Given the description of an element on the screen output the (x, y) to click on. 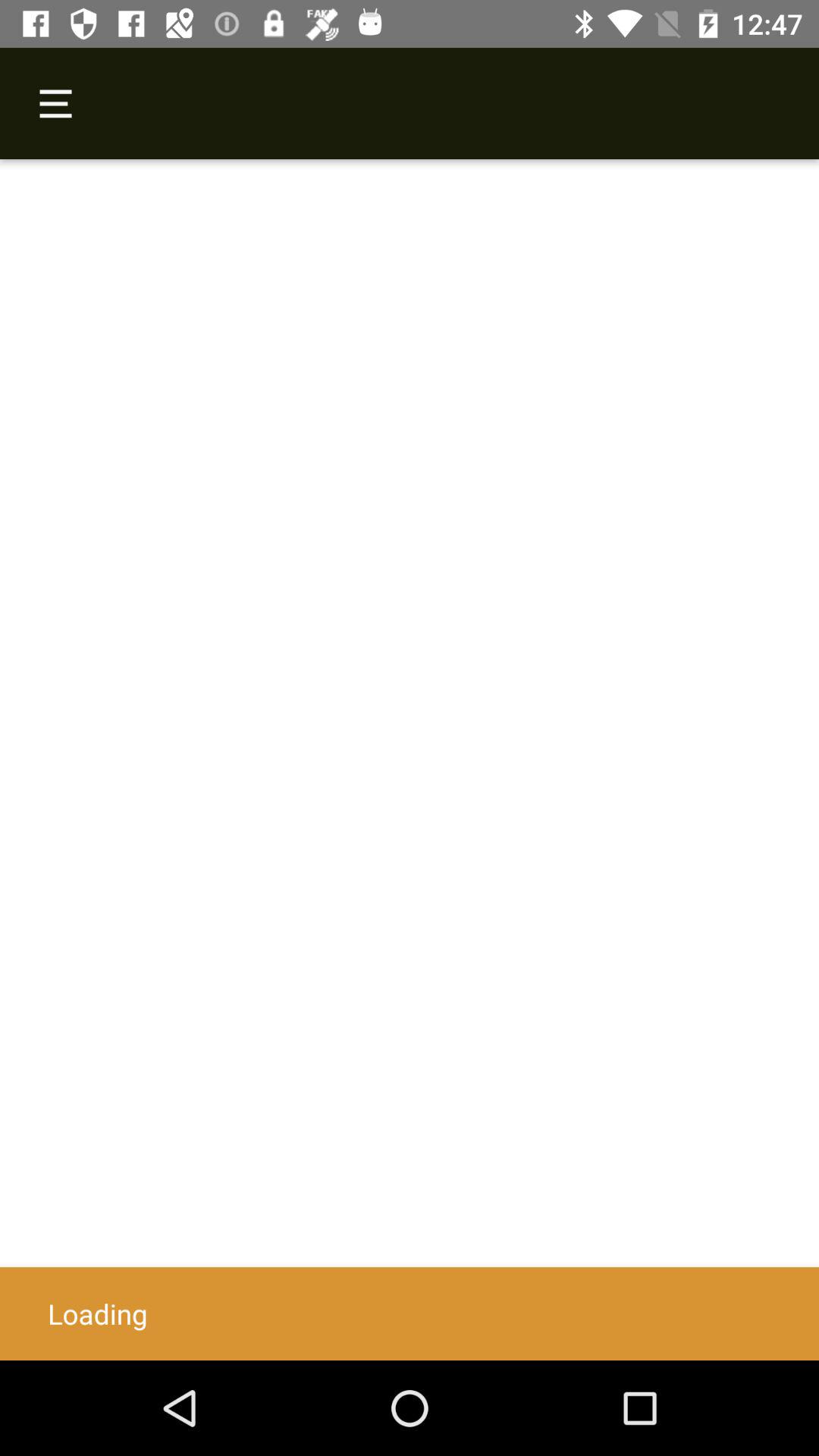
press icon at the top left corner (55, 103)
